Given the description of an element on the screen output the (x, y) to click on. 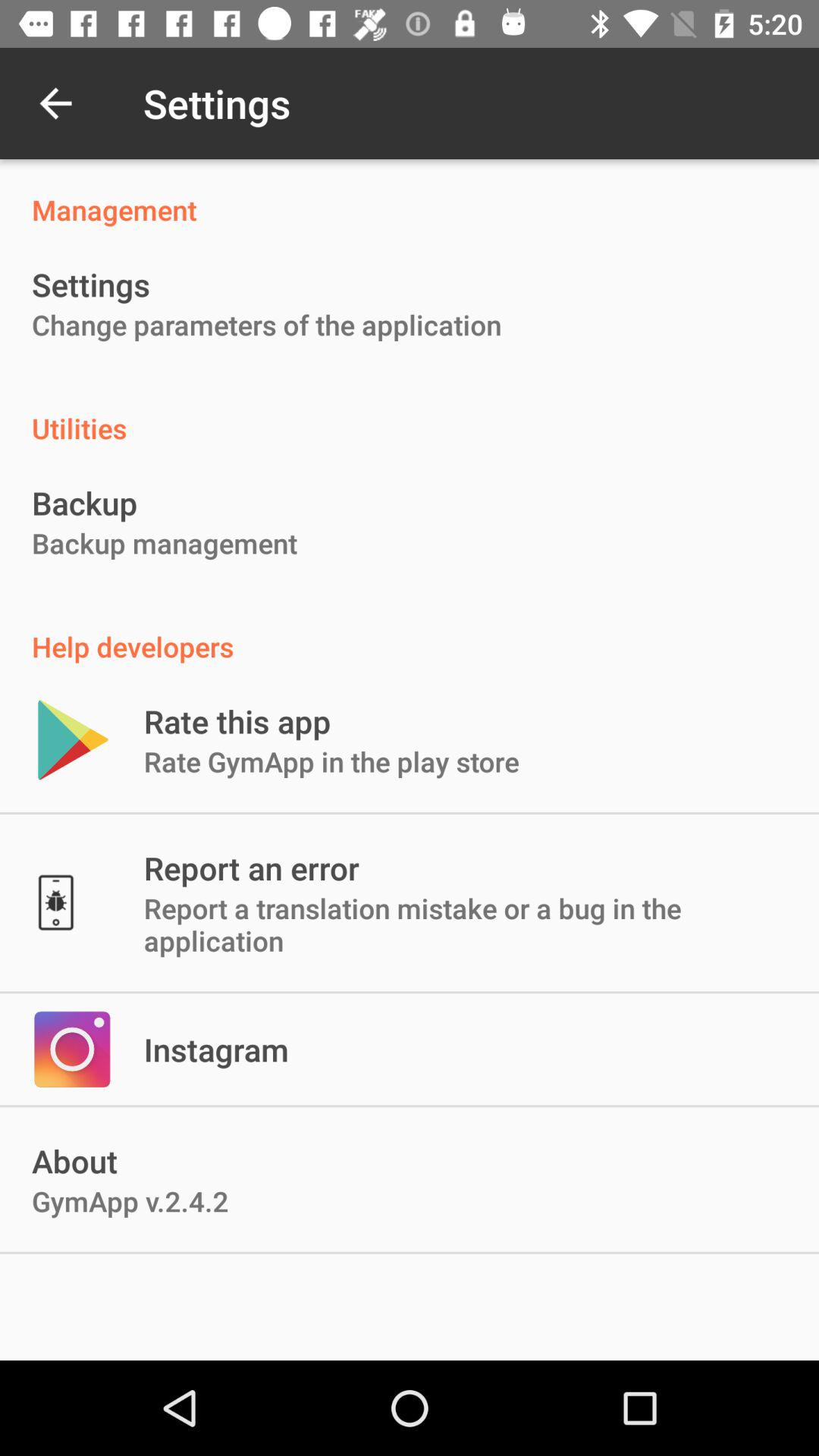
tap the icon above management (55, 103)
